Given the description of an element on the screen output the (x, y) to click on. 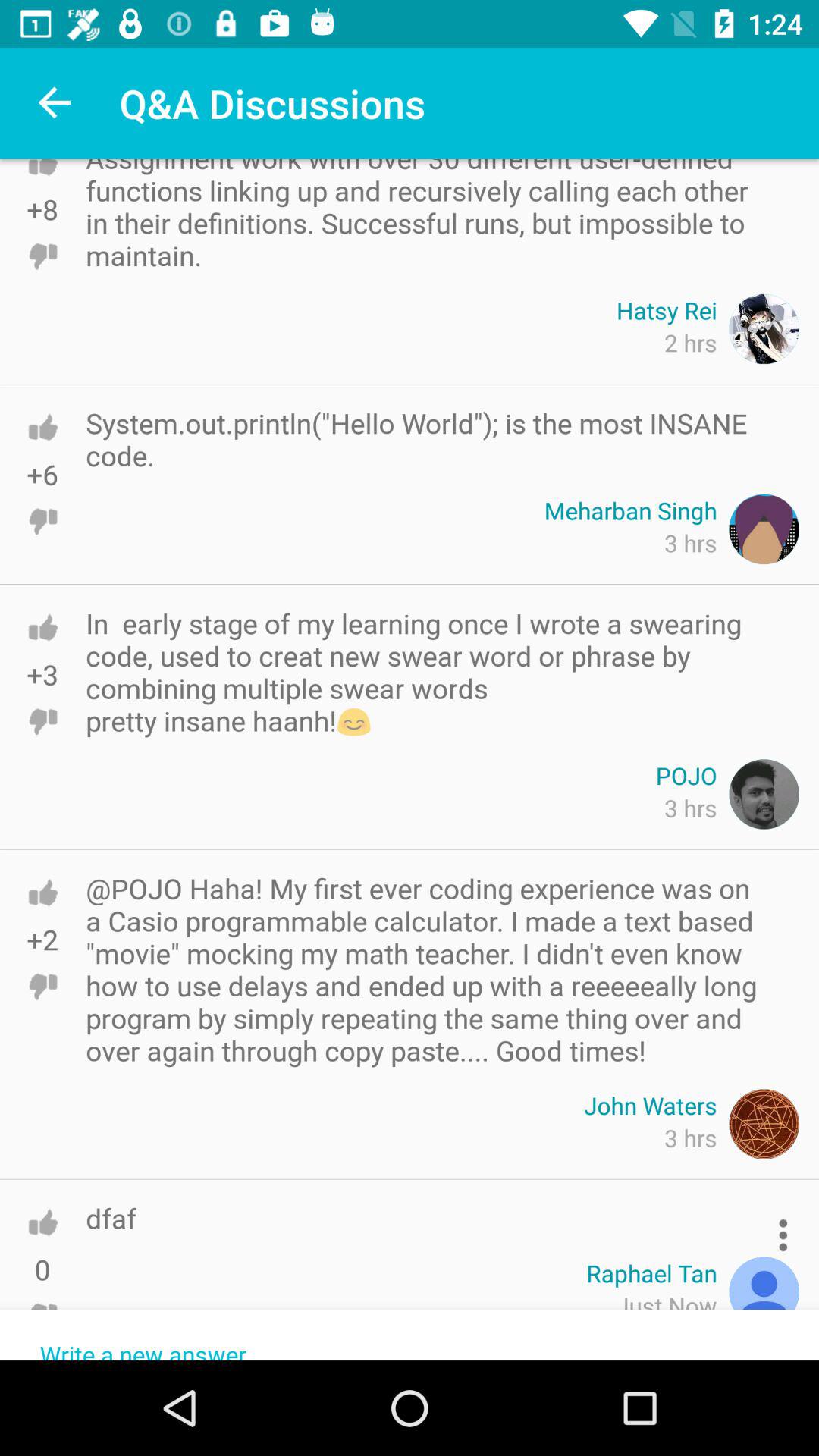
like comment (42, 427)
